Given the description of an element on the screen output the (x, y) to click on. 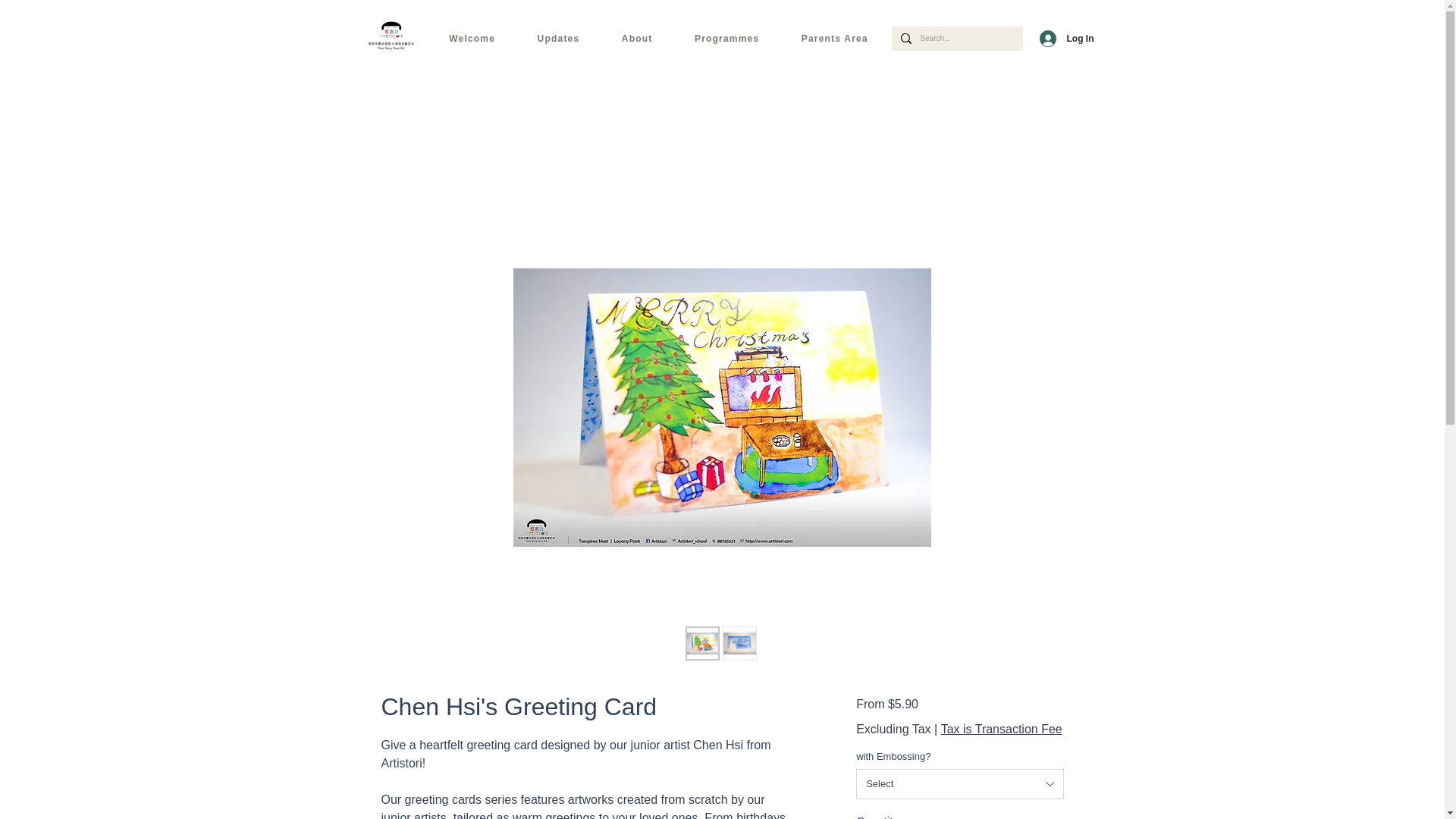
Select (959, 784)
Log In (1056, 38)
Tax is Transaction Fee (1001, 728)
Welcome (471, 38)
Updates (557, 38)
